Given the description of an element on the screen output the (x, y) to click on. 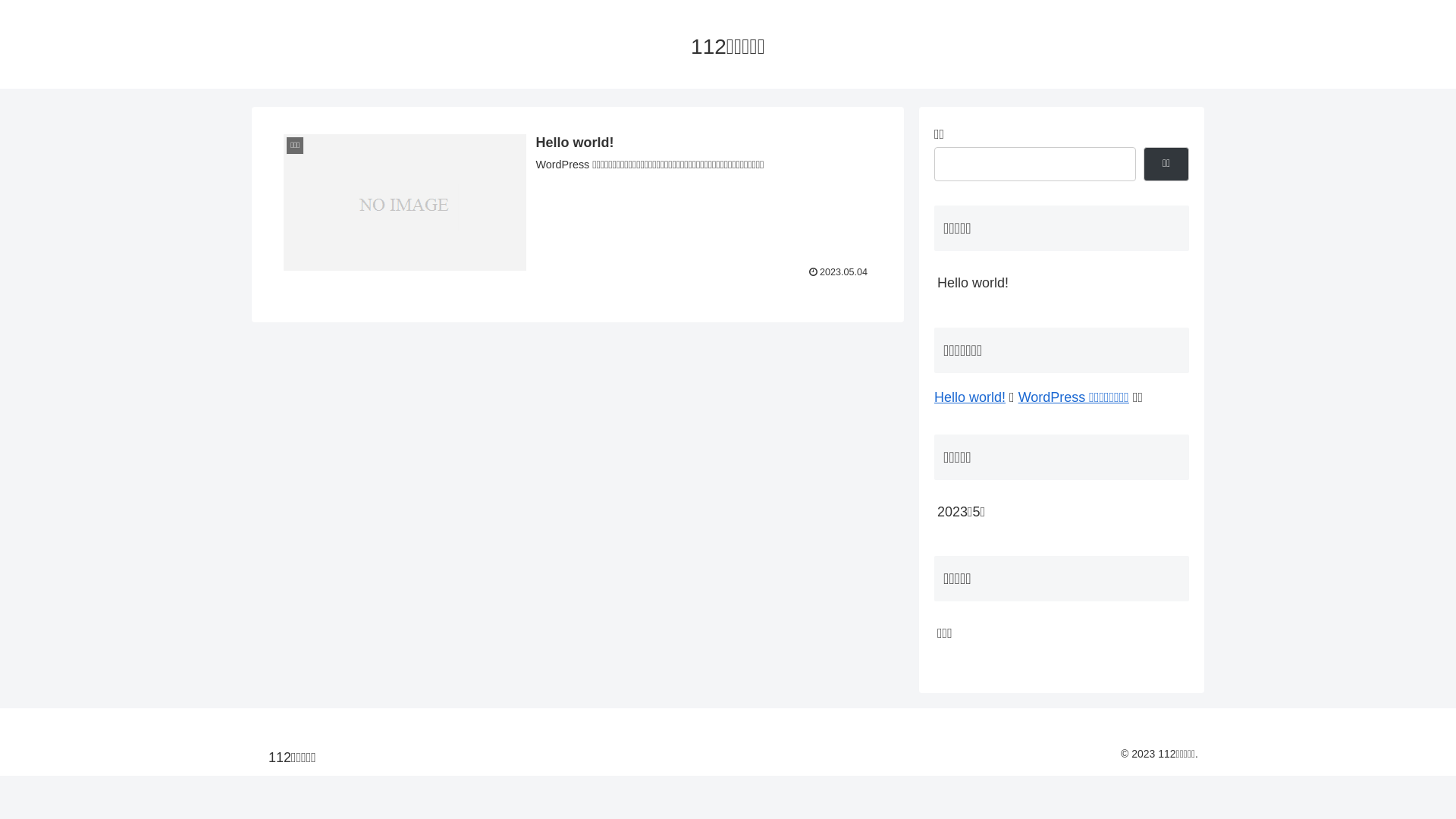
Hello world! Element type: text (969, 396)
Hello world! Element type: text (1061, 282)
